Given the description of an element on the screen output the (x, y) to click on. 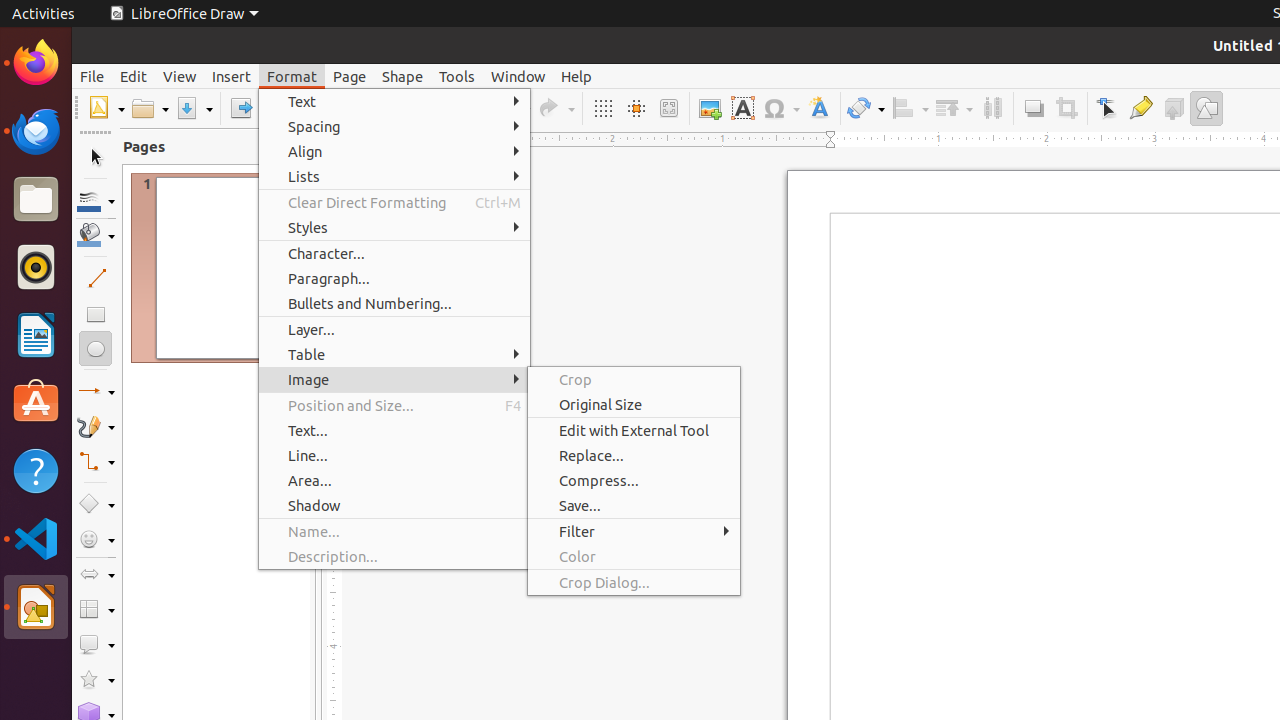
Replace... Element type: menu-item (634, 455)
Align Element type: push-button (910, 108)
Bullets and Numbering... Element type: menu-item (394, 303)
Styles Element type: menu (394, 227)
Area... Element type: menu-item (394, 480)
